Given the description of an element on the screen output the (x, y) to click on. 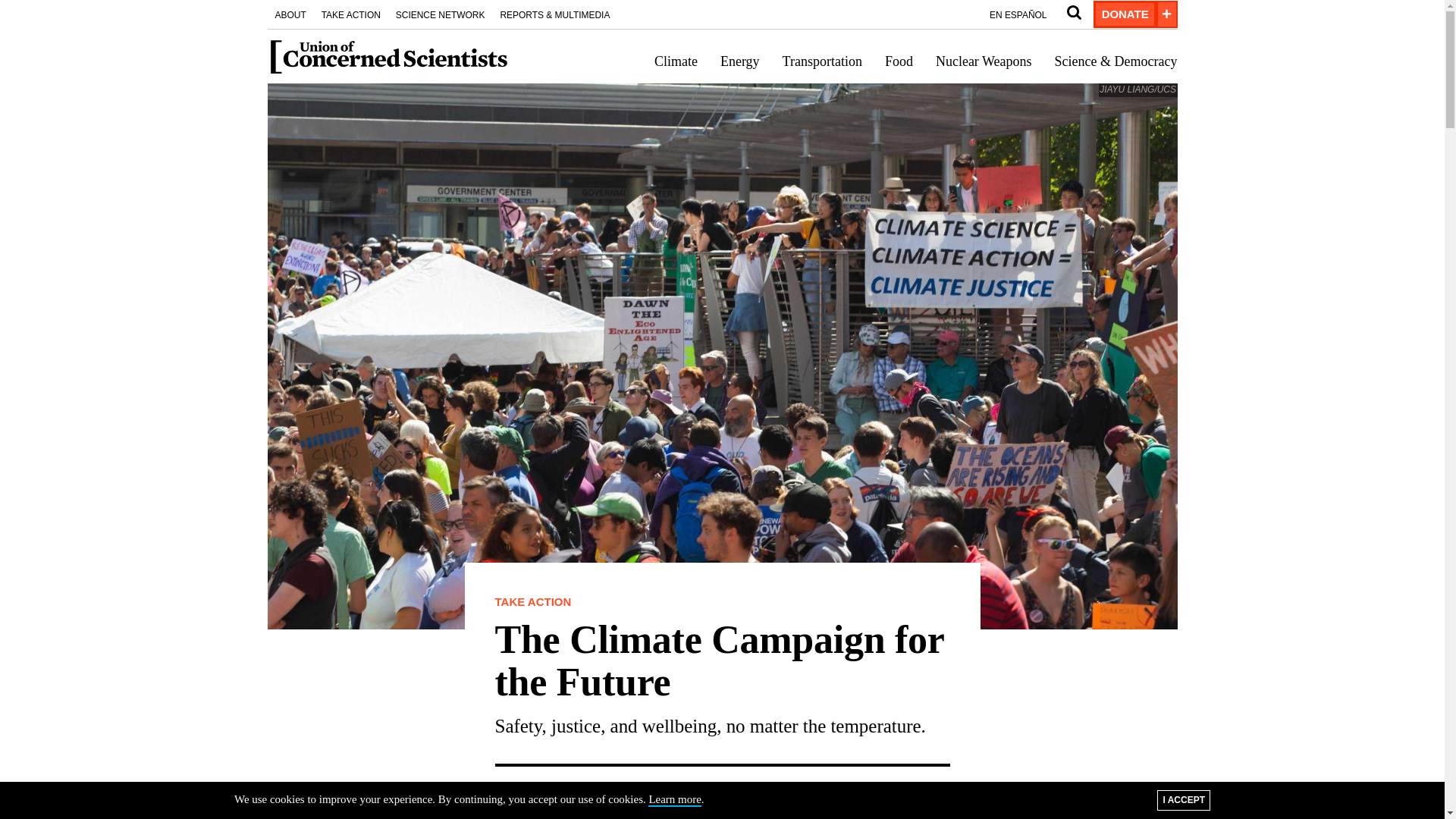
TAKE ACTION (351, 13)
Home (387, 56)
SCIENCE NETWORK (440, 13)
DONATE (1124, 13)
ABOUT (289, 13)
